Given the description of an element on the screen output the (x, y) to click on. 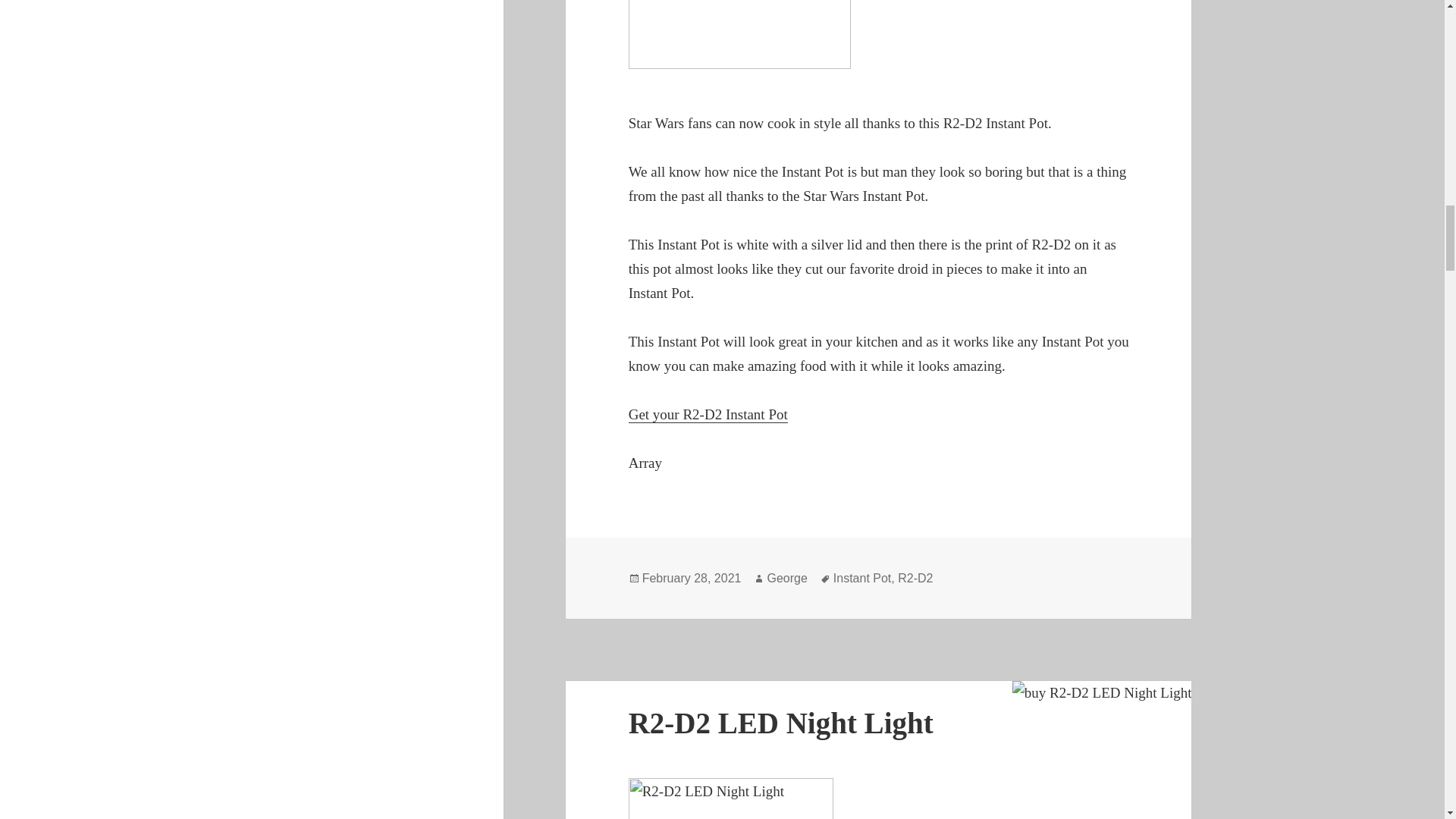
George (786, 578)
Instant Pot (861, 578)
buy R2-D2 LED Night Light (1101, 692)
R2-D2 (915, 578)
February 28, 2021 (691, 578)
Get your R2-D2 Instant Pot (707, 414)
